Given the description of an element on the screen output the (x, y) to click on. 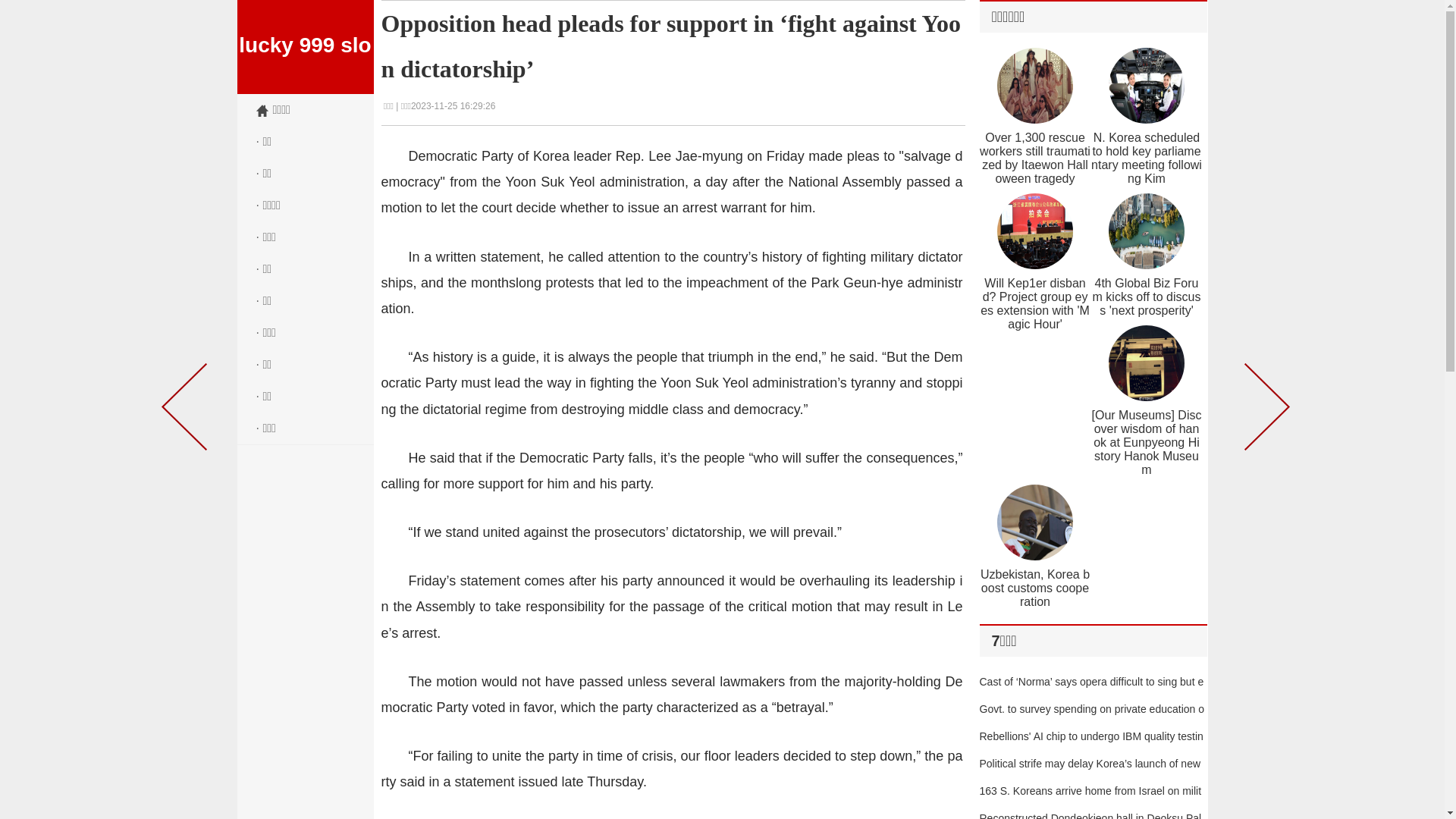
Uzbekistan, Korea boost customs cooperation Element type: text (1034, 587)
4th Global Biz Forum kicks off to discuss 'next prosperity' Element type: text (1146, 296)
lucky 999 slot Element type: text (304, 47)
Rebellions' AI chip to undergo IBM quality testing Element type: text (1091, 749)
